Given the description of an element on the screen output the (x, y) to click on. 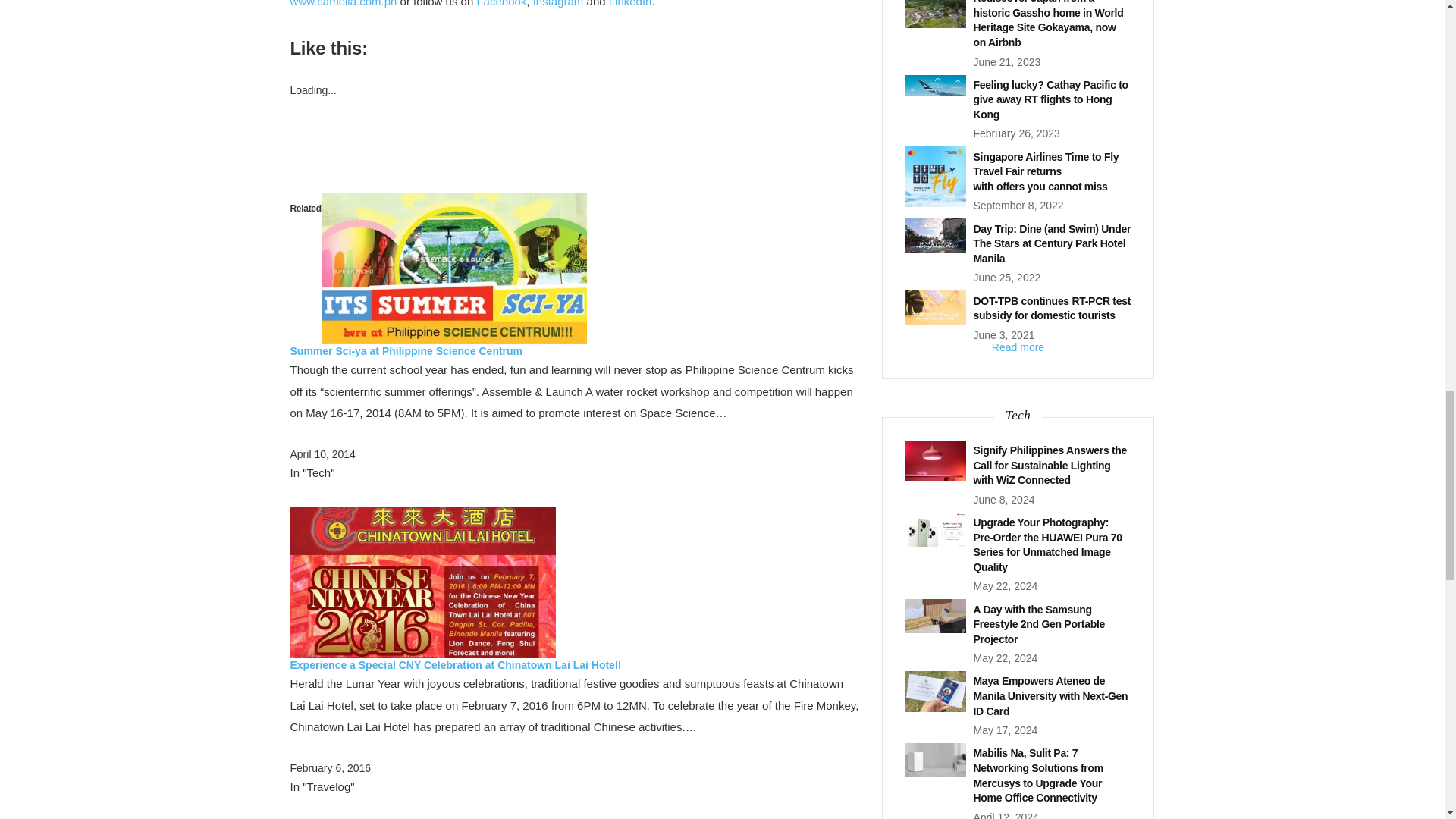
Summer Sci-ya at Philippine Science Centrum (453, 267)
www.camella.com.ph (342, 3)
Instagram (557, 3)
LinkedIn (630, 3)
Facebook (500, 3)
Summer Sci-ya at Philippine Science Centrum (405, 350)
Summer Sci-ya at Philippine Science Centrum (405, 350)
Like or Reblog (574, 146)
